Given the description of an element on the screen output the (x, y) to click on. 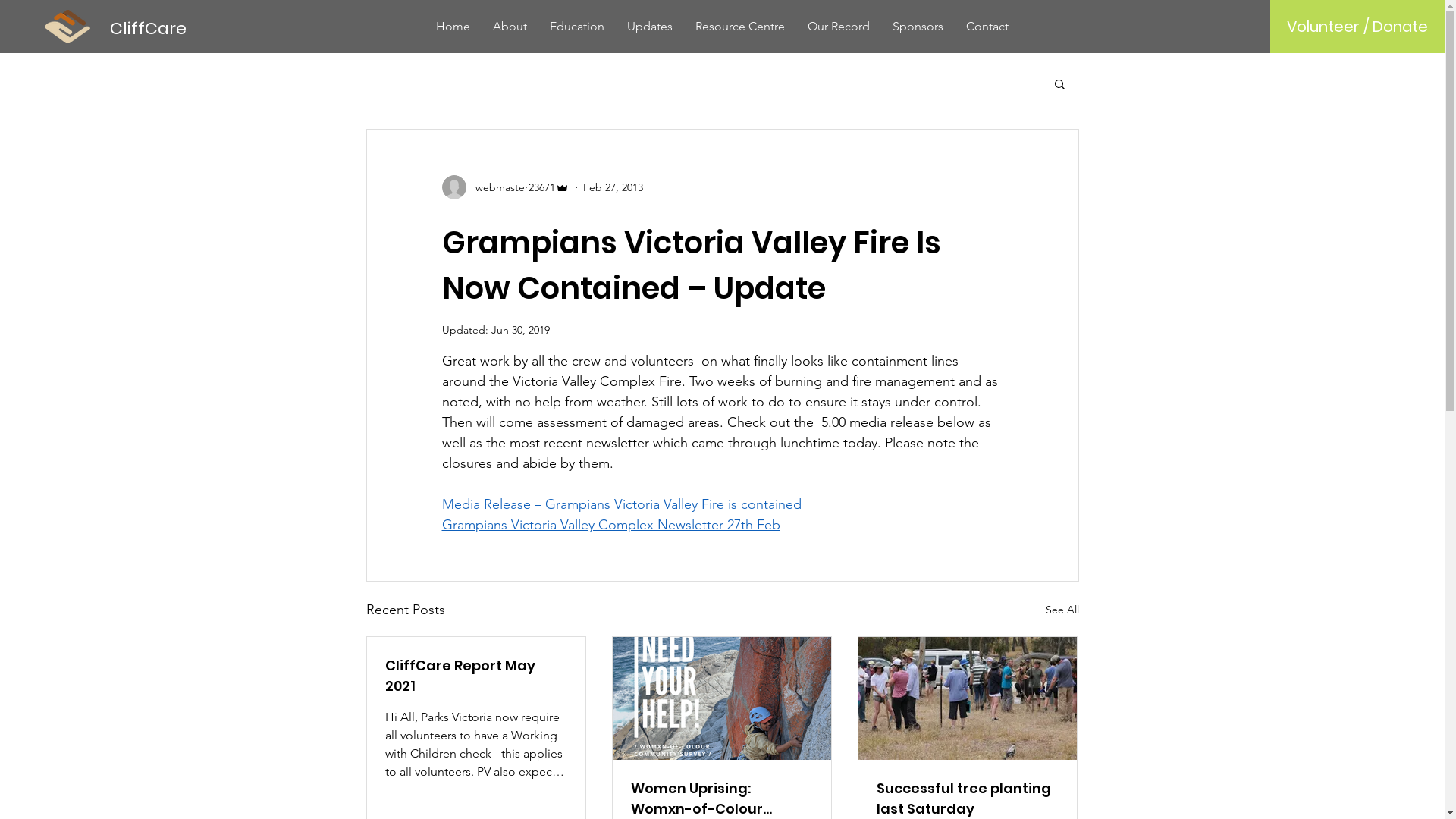
Our Record Element type: text (838, 26)
Contact Element type: text (986, 26)
Updates Element type: text (649, 26)
Grampians Victoria Valley Complex Newsletter 27th Feb Element type: text (610, 524)
Sponsors Element type: text (917, 26)
Home Element type: text (452, 26)
Volunteer / Donate Element type: text (1357, 26)
Resource Centre Element type: text (740, 26)
CliffCare Report May 2021 Element type: text (476, 675)
See All Element type: text (1061, 610)
Education Element type: text (576, 26)
CliffCare Element type: text (147, 28)
About Element type: text (509, 26)
